Given the description of an element on the screen output the (x, y) to click on. 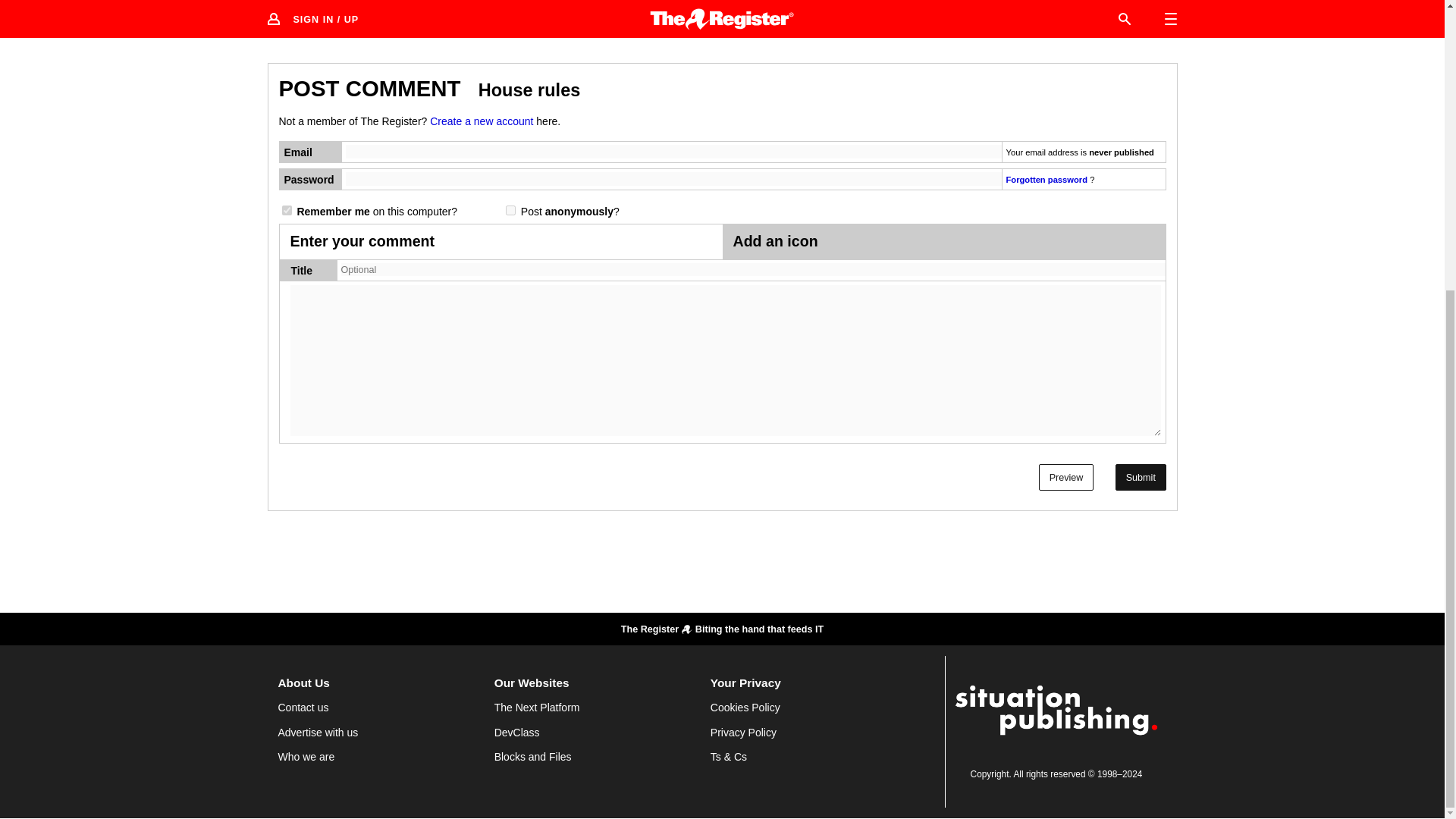
Preview (1066, 477)
1 (510, 210)
Submit (1140, 477)
1 (287, 210)
